Given the description of an element on the screen output the (x, y) to click on. 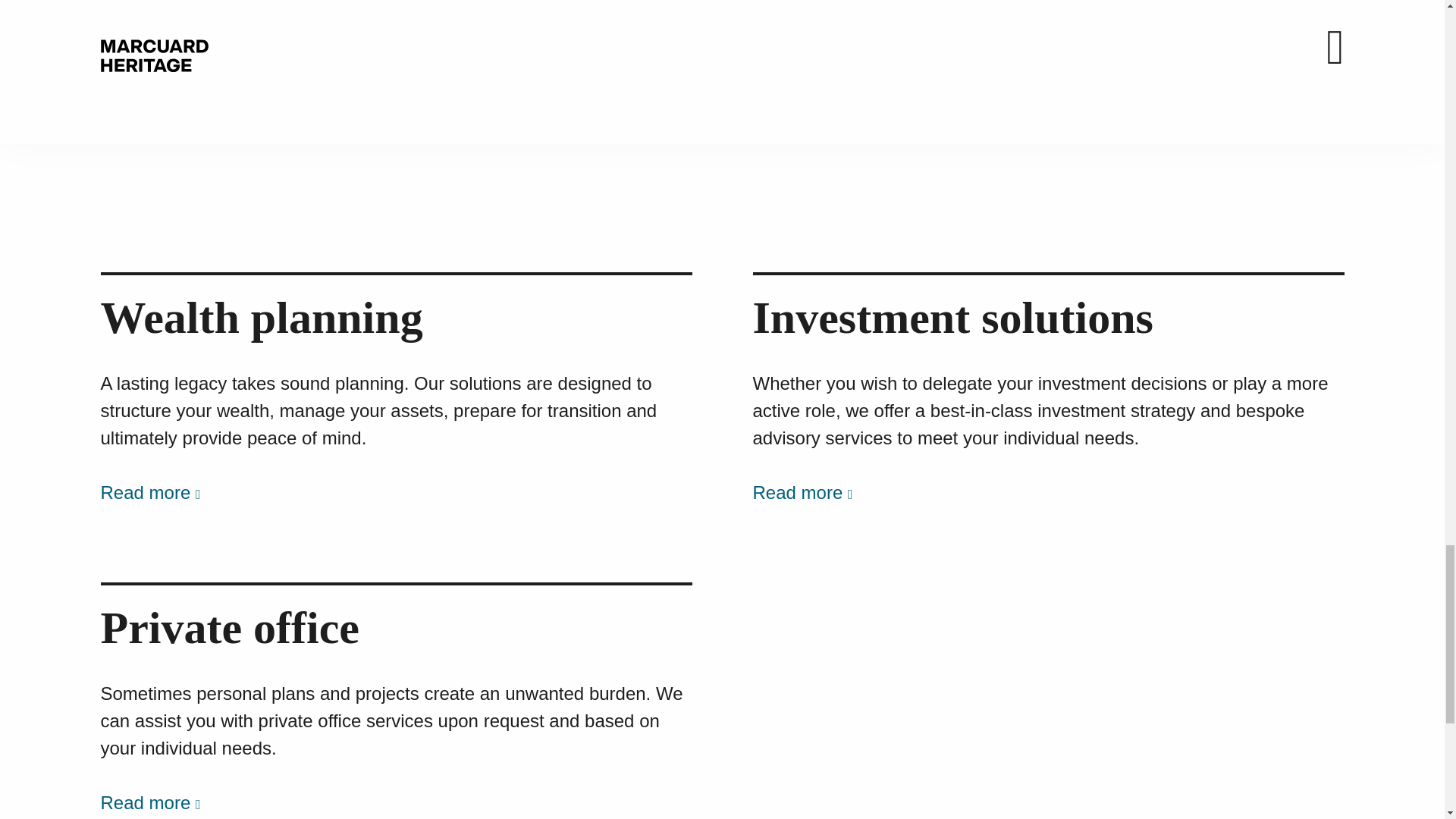
Read more (154, 802)
Please contact us. (264, 14)
Read more (806, 492)
Read more (154, 492)
